Given the description of an element on the screen output the (x, y) to click on. 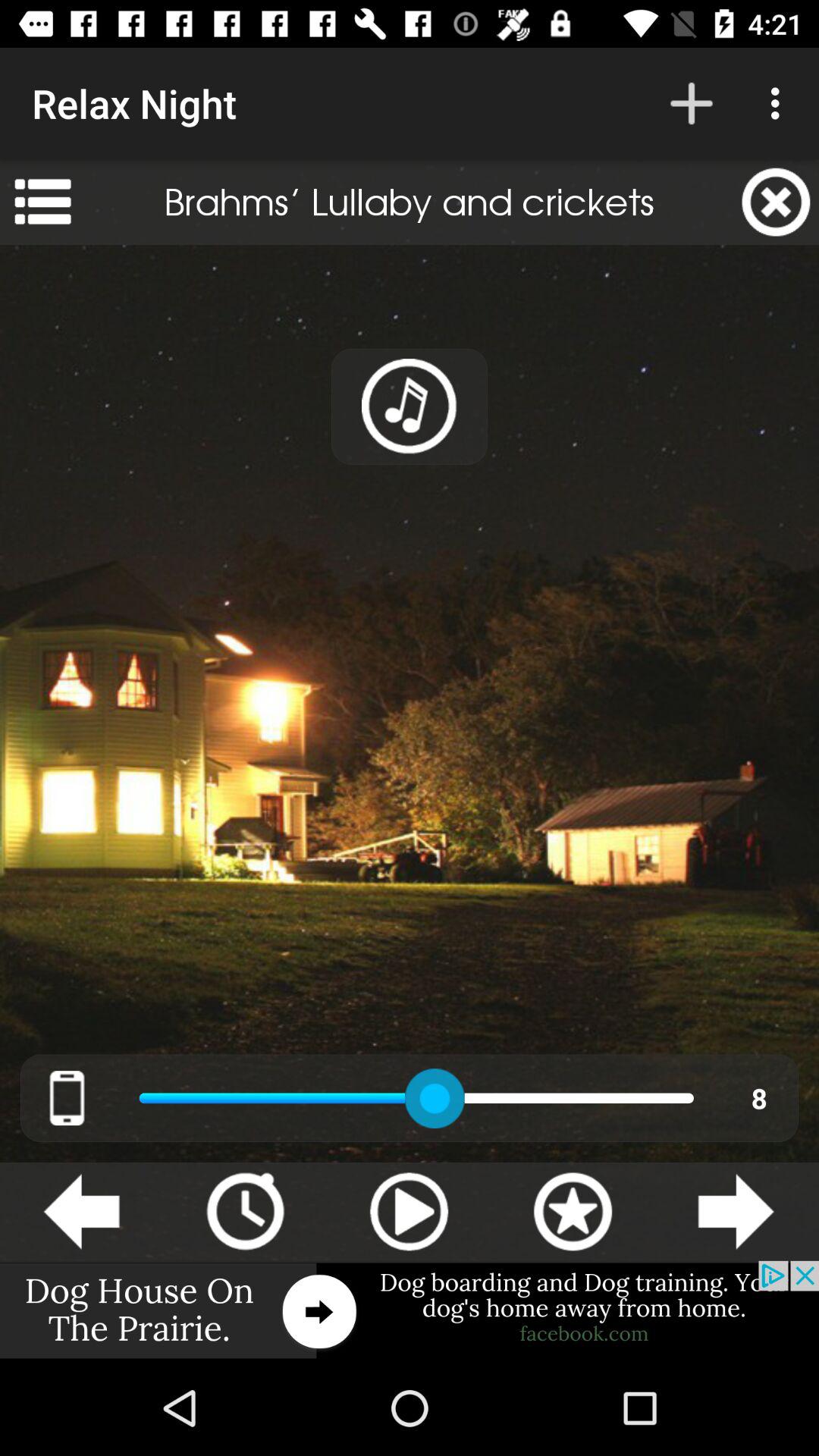
press the icon below the relax night item (42, 202)
